Given the description of an element on the screen output the (x, y) to click on. 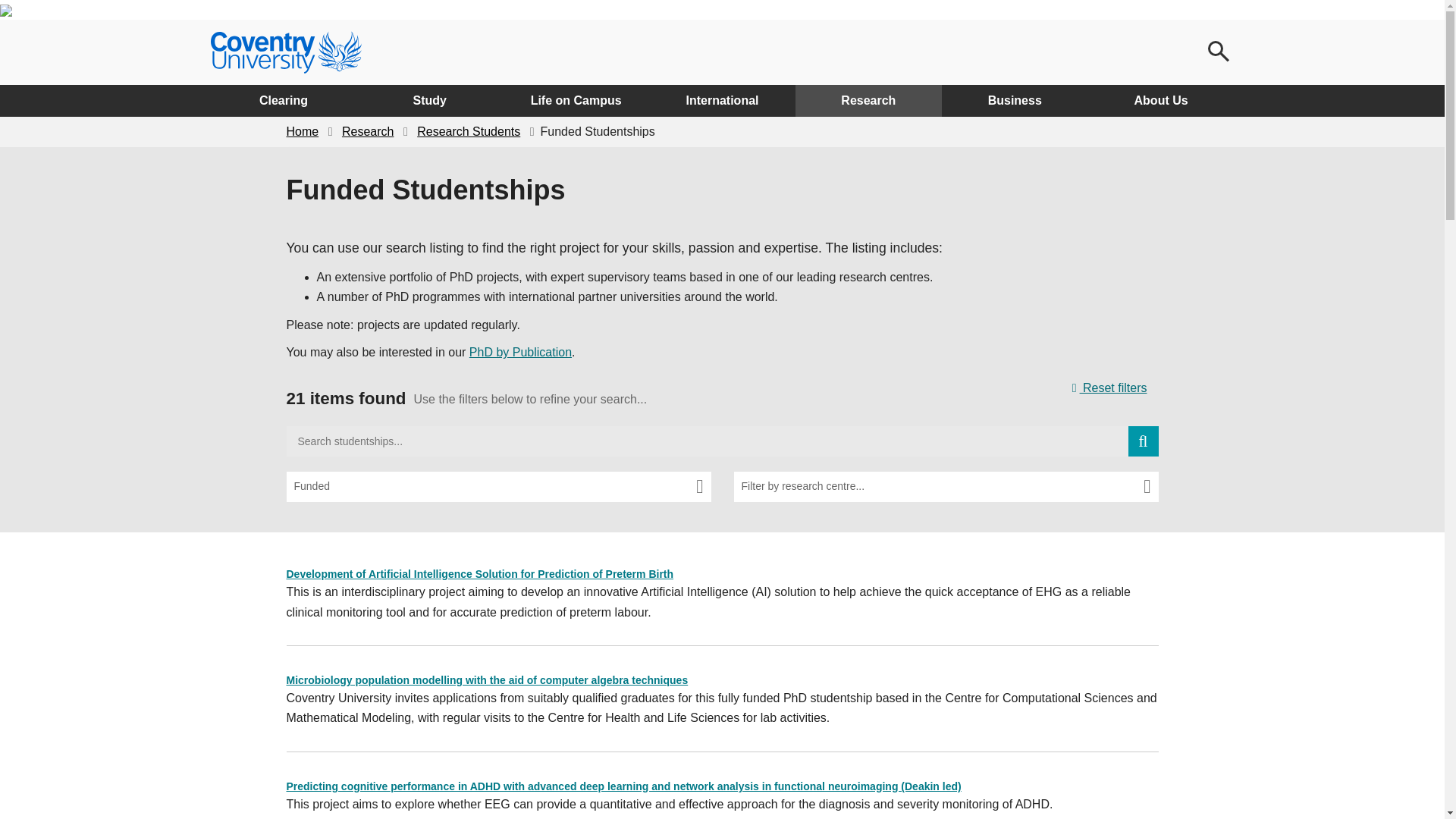
Coventry University (286, 52)
Clearing (283, 101)
Life on Campus (575, 101)
Study (429, 101)
